Given the description of an element on the screen output the (x, y) to click on. 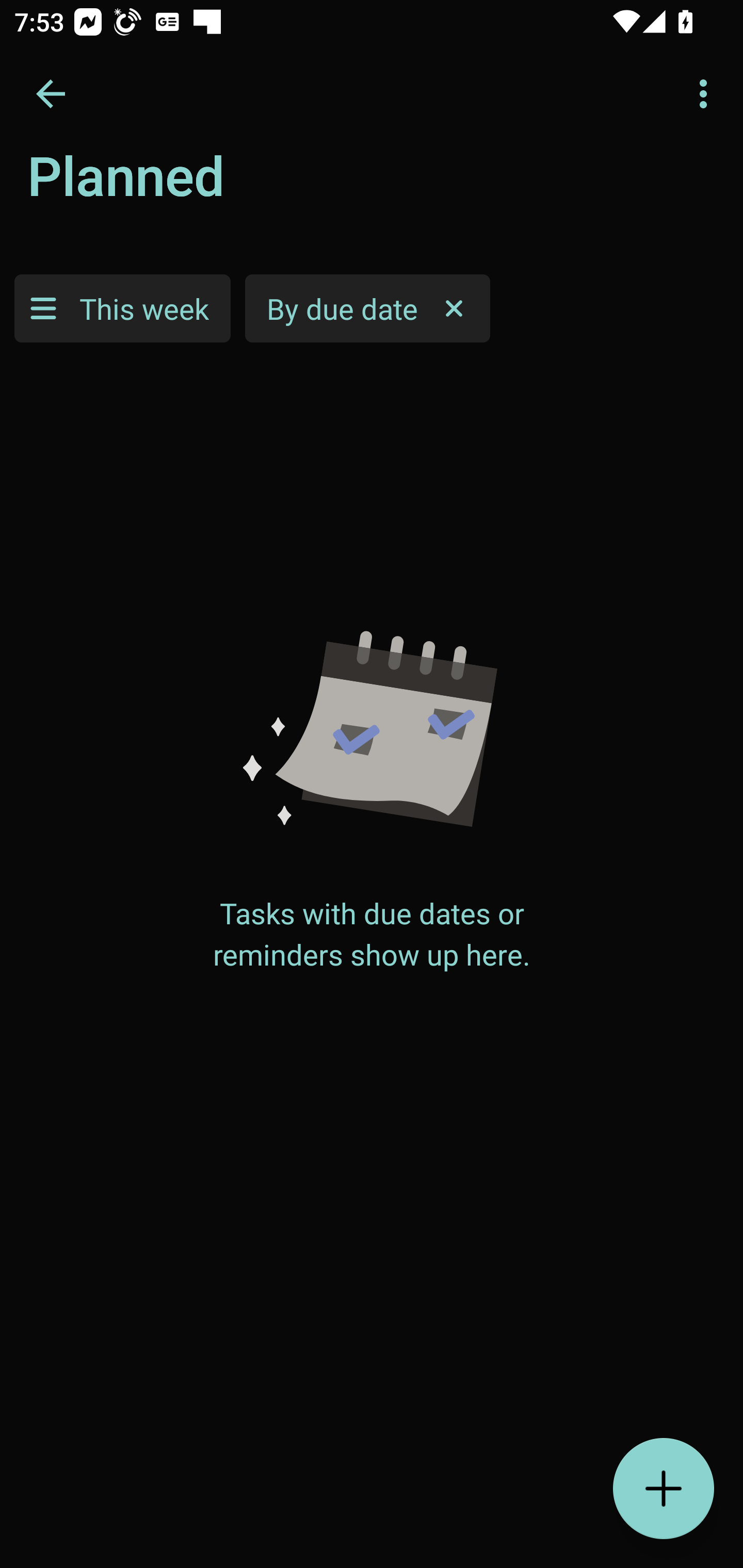
Back (50, 93)
More options (706, 93)
My Day, 0 tasks (182, 187)
This week view selected (122, 307)
By due date (367, 307)
Remove Grouping (453, 307)
Add a task (663, 1488)
